Given the description of an element on the screen output the (x, y) to click on. 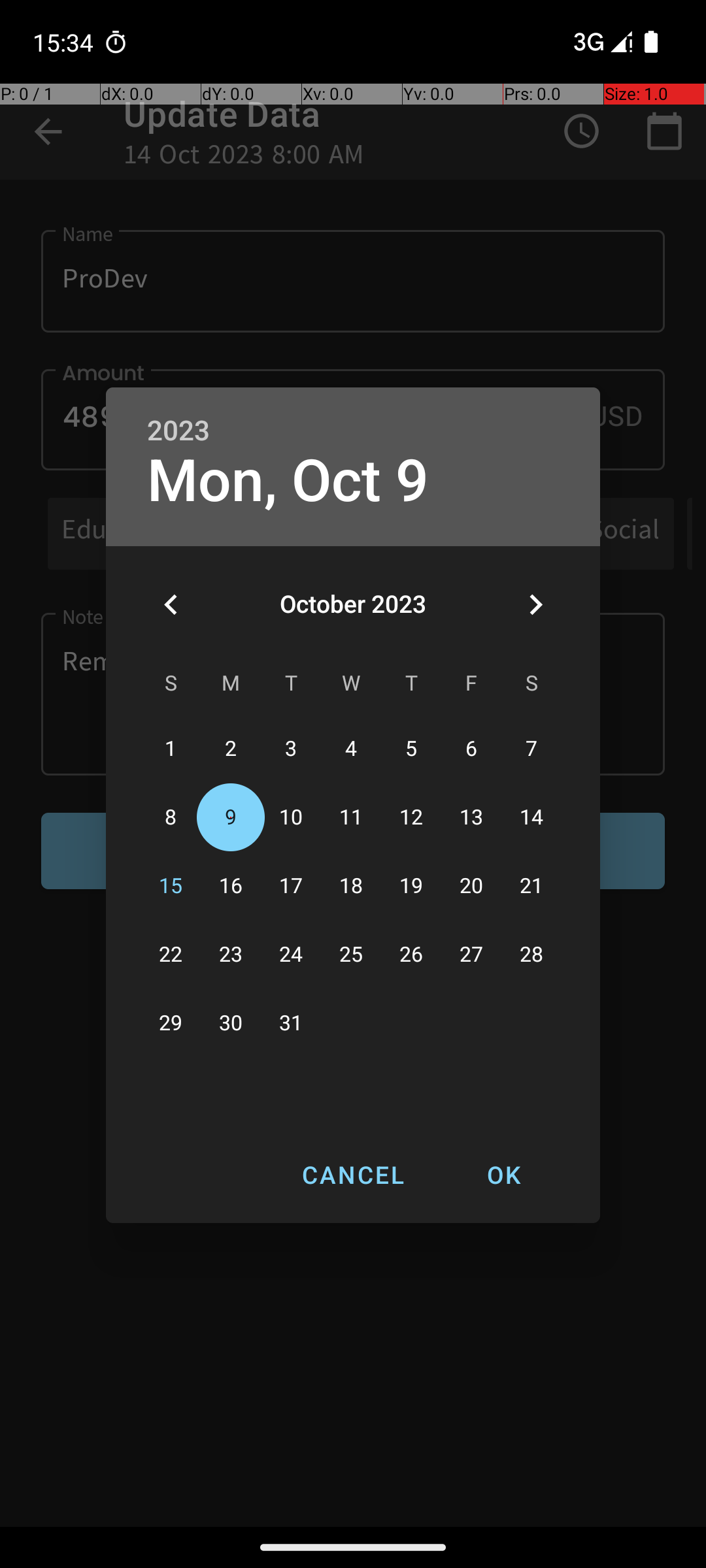
Mon, Oct 9 Element type: android.widget.TextView (287, 480)
